Given the description of an element on the screen output the (x, y) to click on. 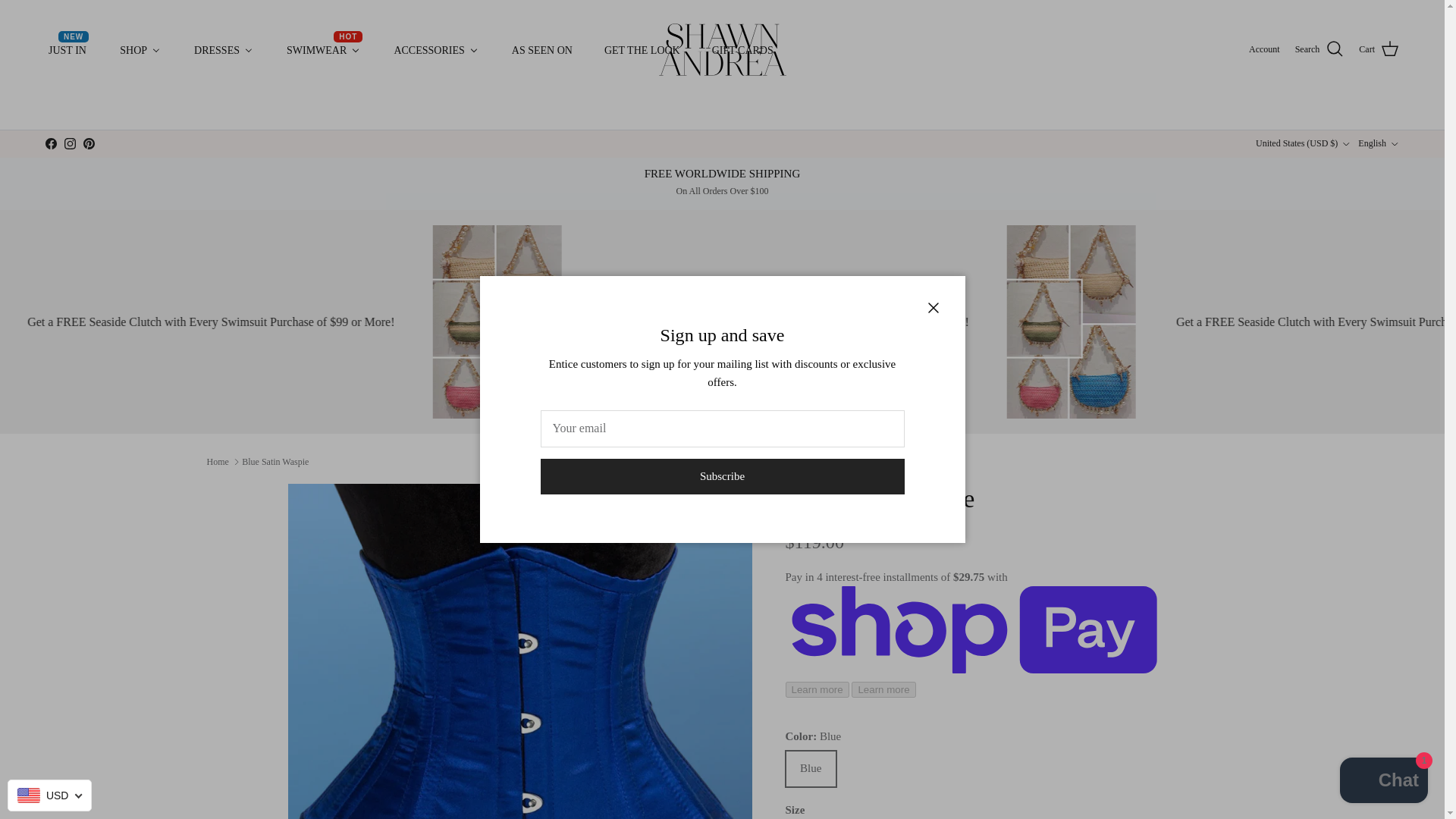
SHAWN ANDREA (722, 49)
JUST INNEW (67, 50)
SHAWN ANDREA on Pinterest (88, 143)
SHAWN ANDREA on Instagram (69, 143)
SHOP (140, 50)
SHAWN ANDREA on Facebook (50, 143)
ACCESSORIES (436, 50)
DRESSES (223, 50)
